Given the description of an element on the screen output the (x, y) to click on. 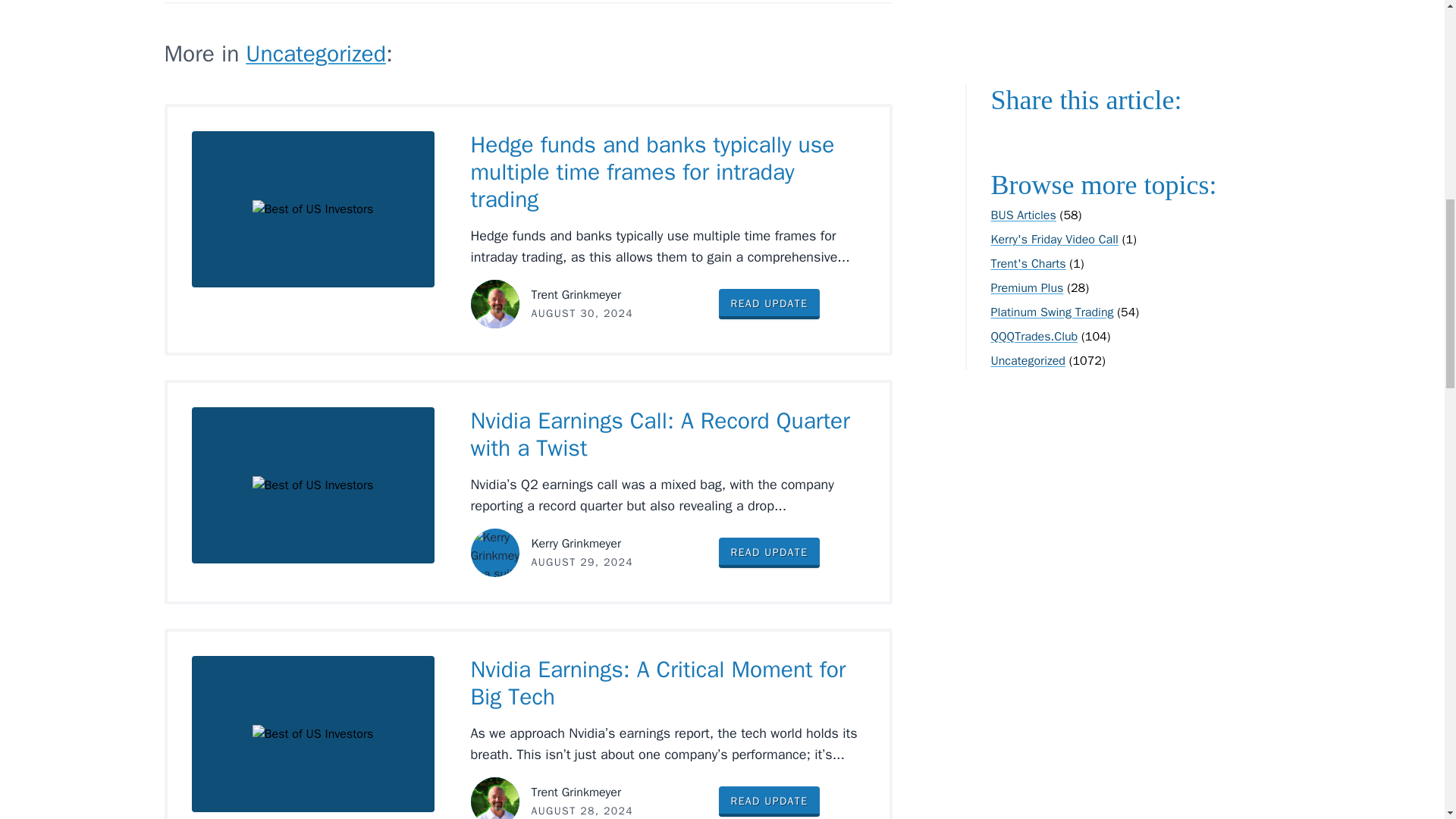
Uncategorized (315, 53)
READ UPDATE (770, 552)
Nvidia Earnings Call: A Record Quarter with a Twist (659, 434)
READ UPDATE (770, 304)
Nvidia Earnings: A Critical Moment for Big Tech (657, 683)
